Given the description of an element on the screen output the (x, y) to click on. 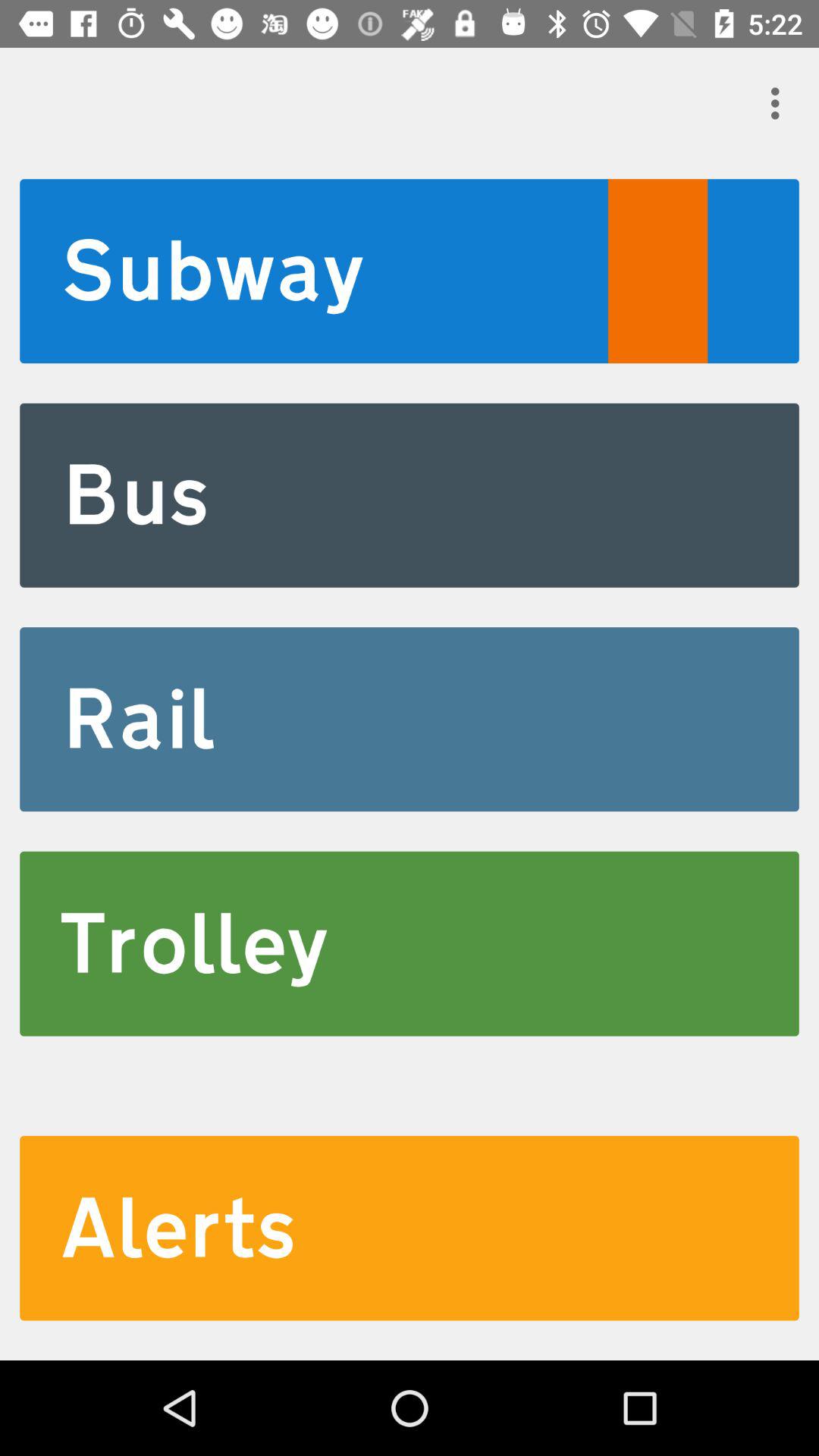
flip until bus icon (409, 495)
